Given the description of an element on the screen output the (x, y) to click on. 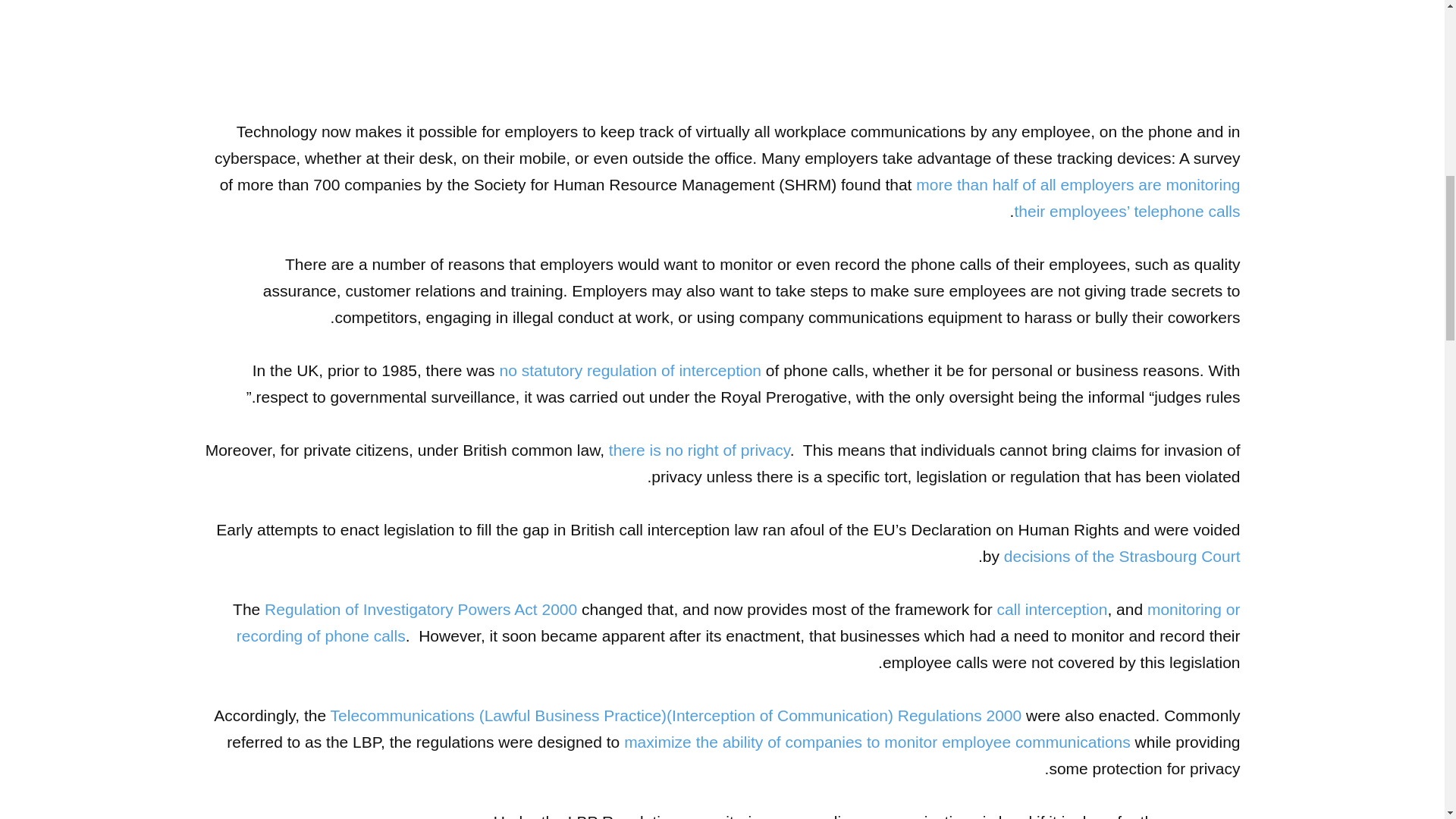
decisions of the Strasbourg Court (1122, 556)
FlexiRecord - Recording Intercepted Phone Calls (737, 622)
call interception (1050, 609)
there is no right of privacy (699, 449)
Regulation of Investigatory Powers Act 2000 (420, 609)
Call Interception (1050, 609)
monitoring or recording of phone calls (737, 622)
no statutory regulation of interception (630, 370)
